Given the description of an element on the screen output the (x, y) to click on. 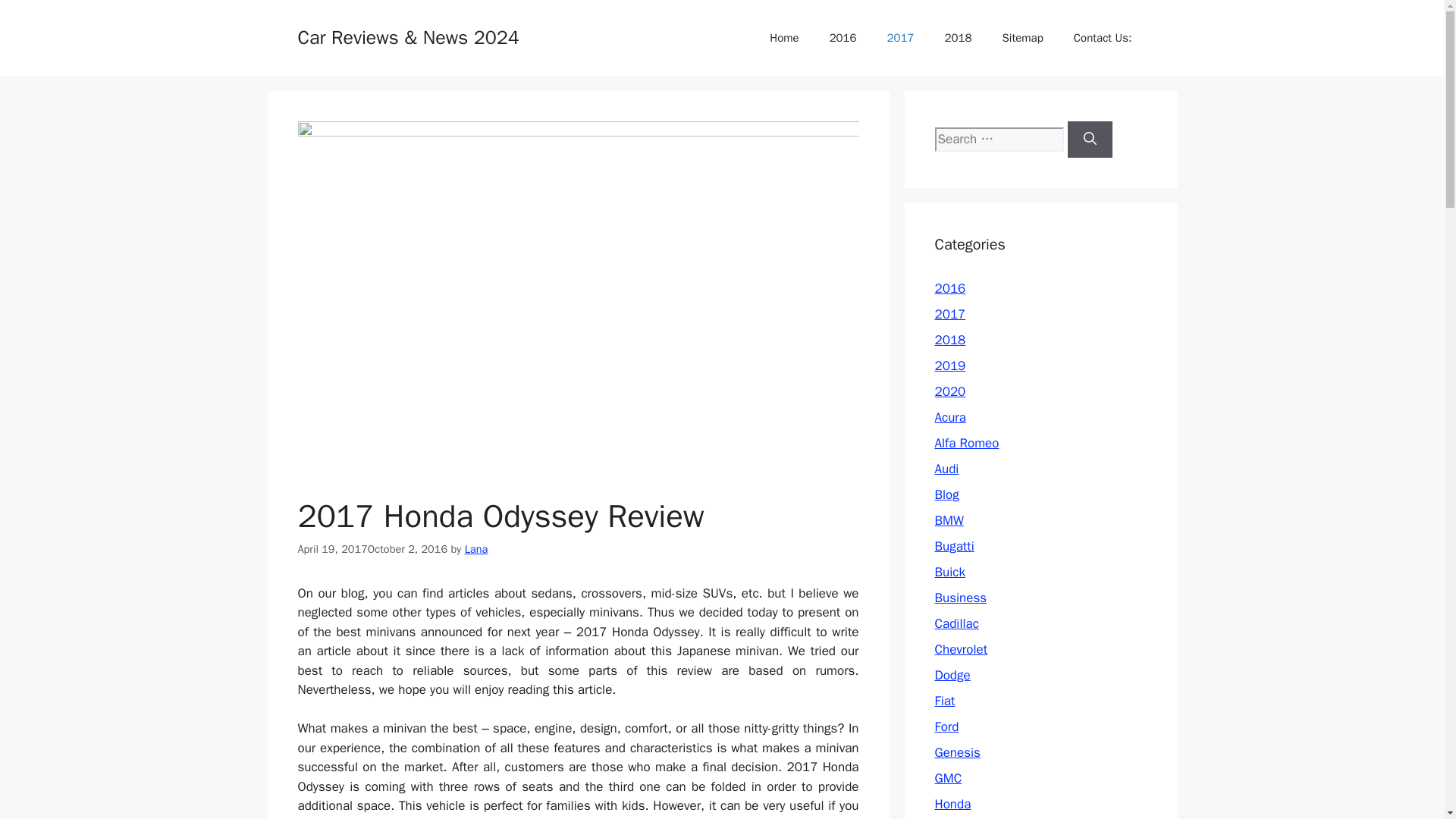
View all posts by Lana (475, 549)
Sitemap (1022, 37)
2016 (842, 37)
Home (783, 37)
Contact Us: (1102, 37)
2018 (949, 340)
2016 (949, 288)
Lana (475, 549)
2017 (949, 314)
2017 (901, 37)
